Given the description of an element on the screen output the (x, y) to click on. 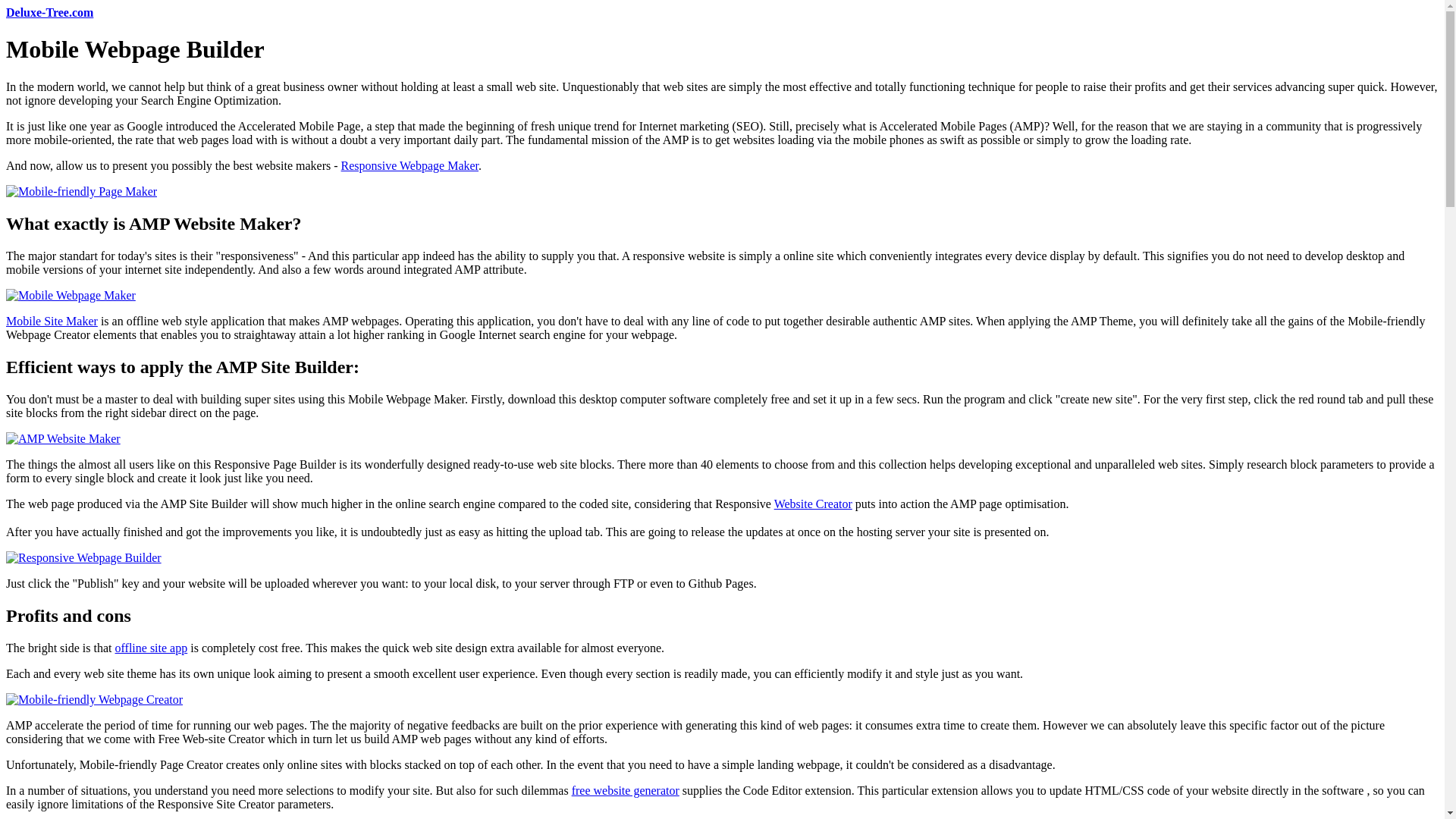
Deluxe-Tree.com (49, 11)
Responsive Webpage Maker (409, 164)
free website generator (625, 789)
Mobile Site Maker (51, 320)
offline site app (151, 647)
Website Creator (812, 503)
